Given the description of an element on the screen output the (x, y) to click on. 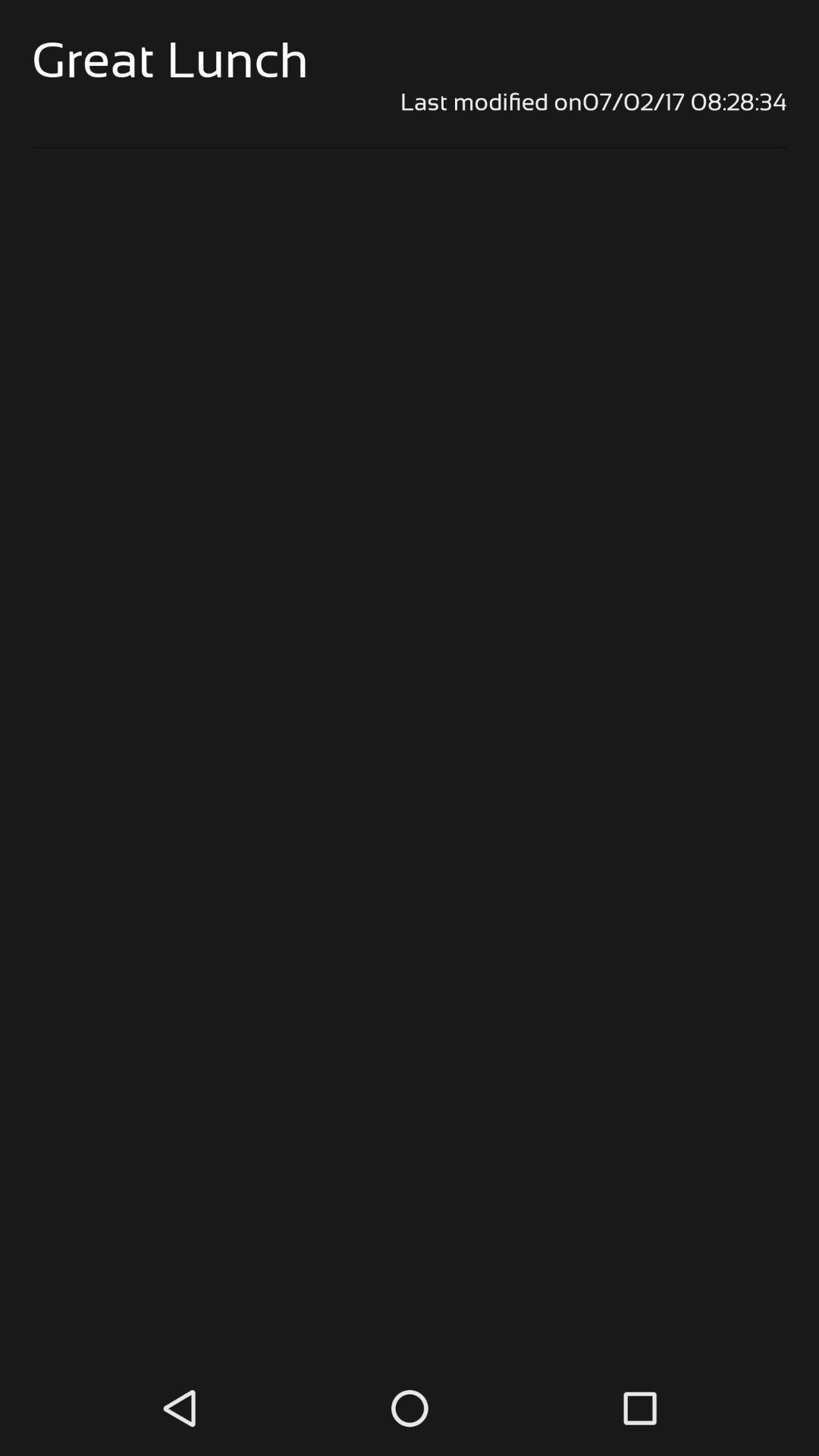
click the great lunch at the top left corner (169, 59)
